Given the description of an element on the screen output the (x, y) to click on. 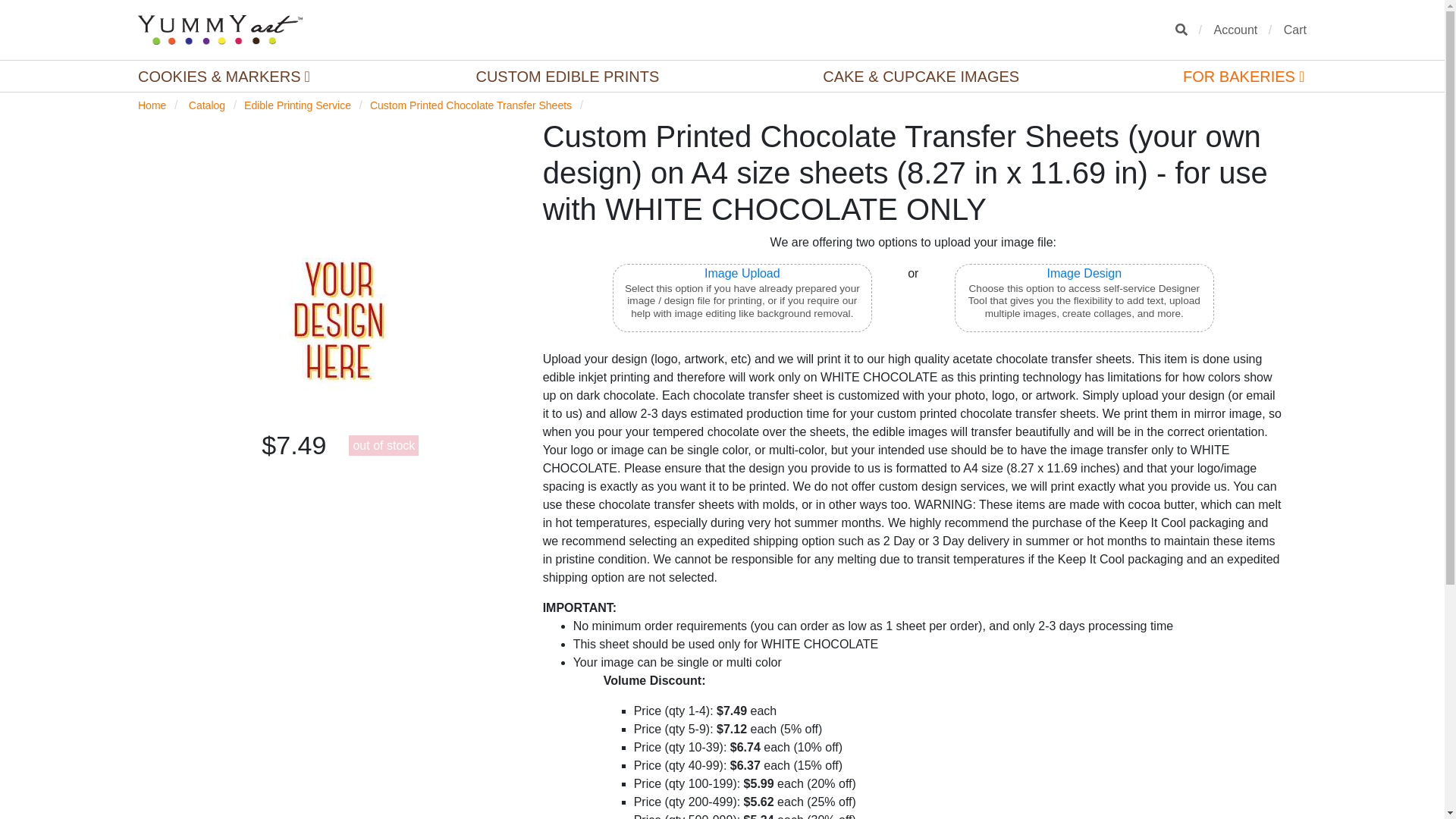
Account (1234, 29)
Cart (1295, 29)
Design Your Image (1083, 273)
Image Design (1083, 273)
Custom Printed Chocolate Transfer Sheets (470, 105)
Image Upload (742, 273)
Home (151, 105)
Catalog (207, 105)
Upload Your Image (742, 273)
CUSTOM EDIBLE PRINTS (567, 76)
